Given the description of an element on the screen output the (x, y) to click on. 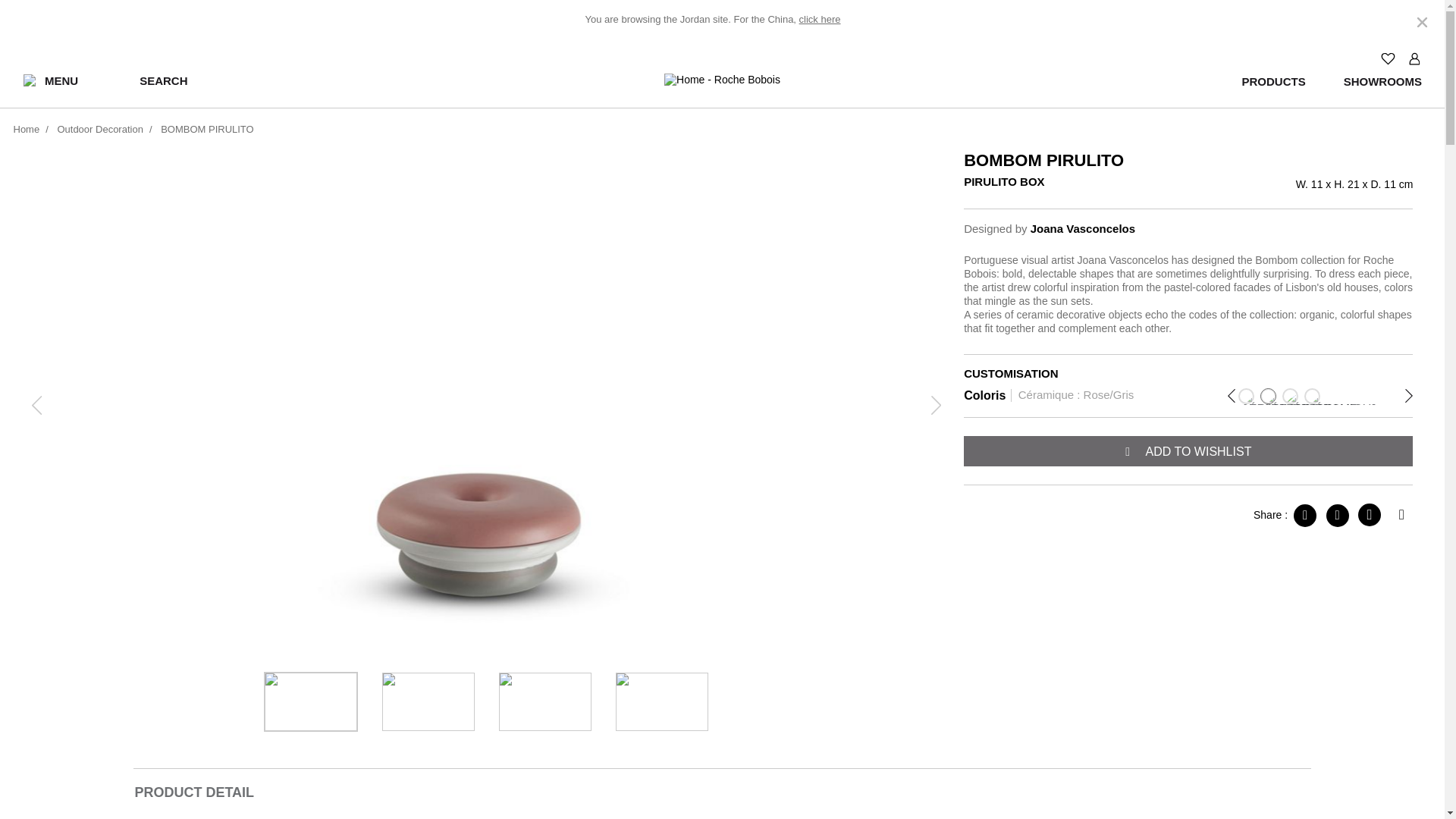
click here (820, 19)
MENU (50, 80)
PIRULITO Box (428, 701)
PIRULITO Box (310, 701)
PIRULITO Box (545, 701)
PIRULITO Box (661, 701)
